Given the description of an element on the screen output the (x, y) to click on. 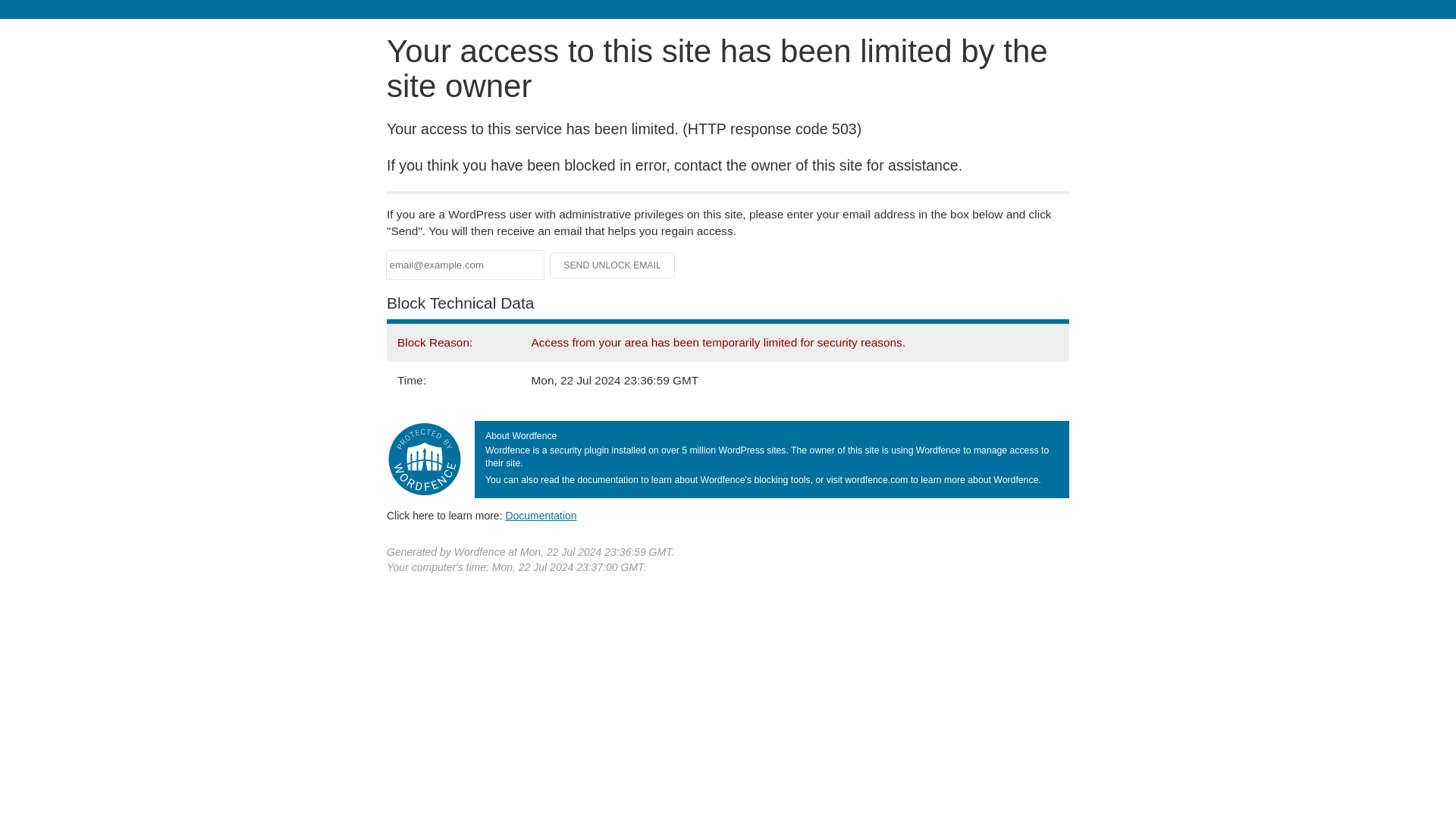
Send Unlock Email (612, 265)
Documentation (540, 515)
Send Unlock Email (612, 265)
